Given the description of an element on the screen output the (x, y) to click on. 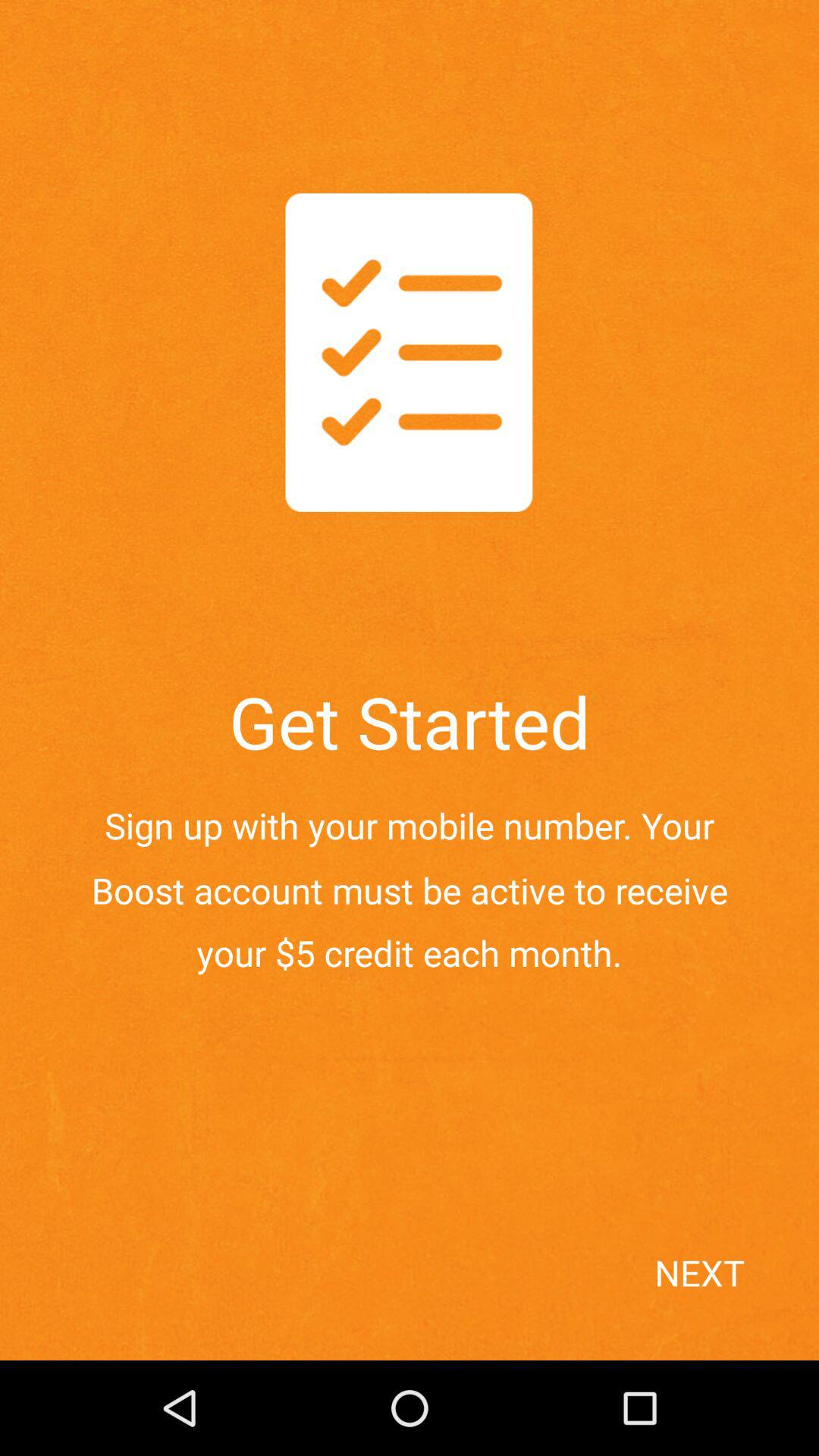
select next icon (731, 1300)
